Given the description of an element on the screen output the (x, y) to click on. 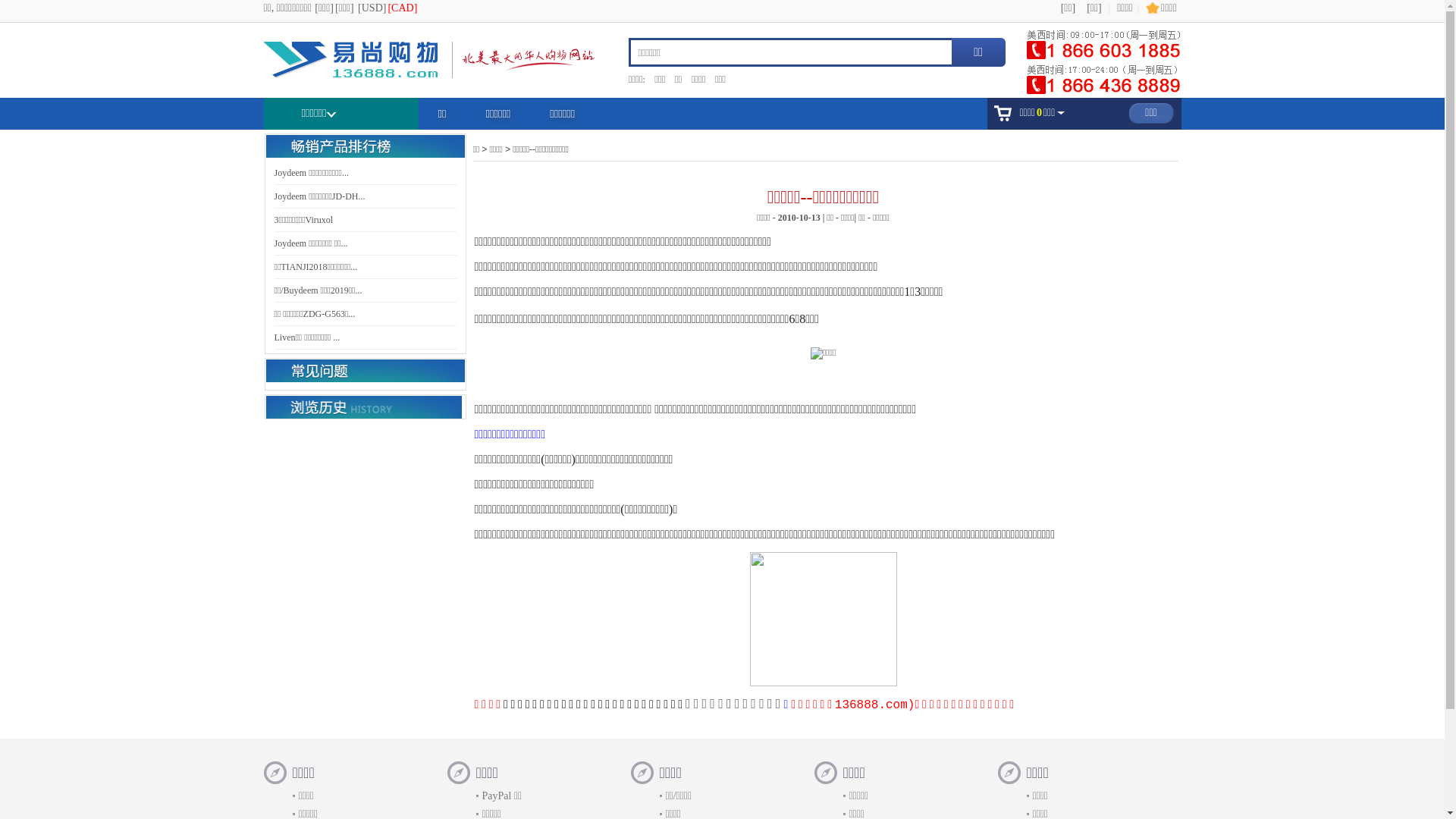
[USD] Element type: text (371, 7)
[CAD] Element type: text (402, 7)
